Given the description of an element on the screen output the (x, y) to click on. 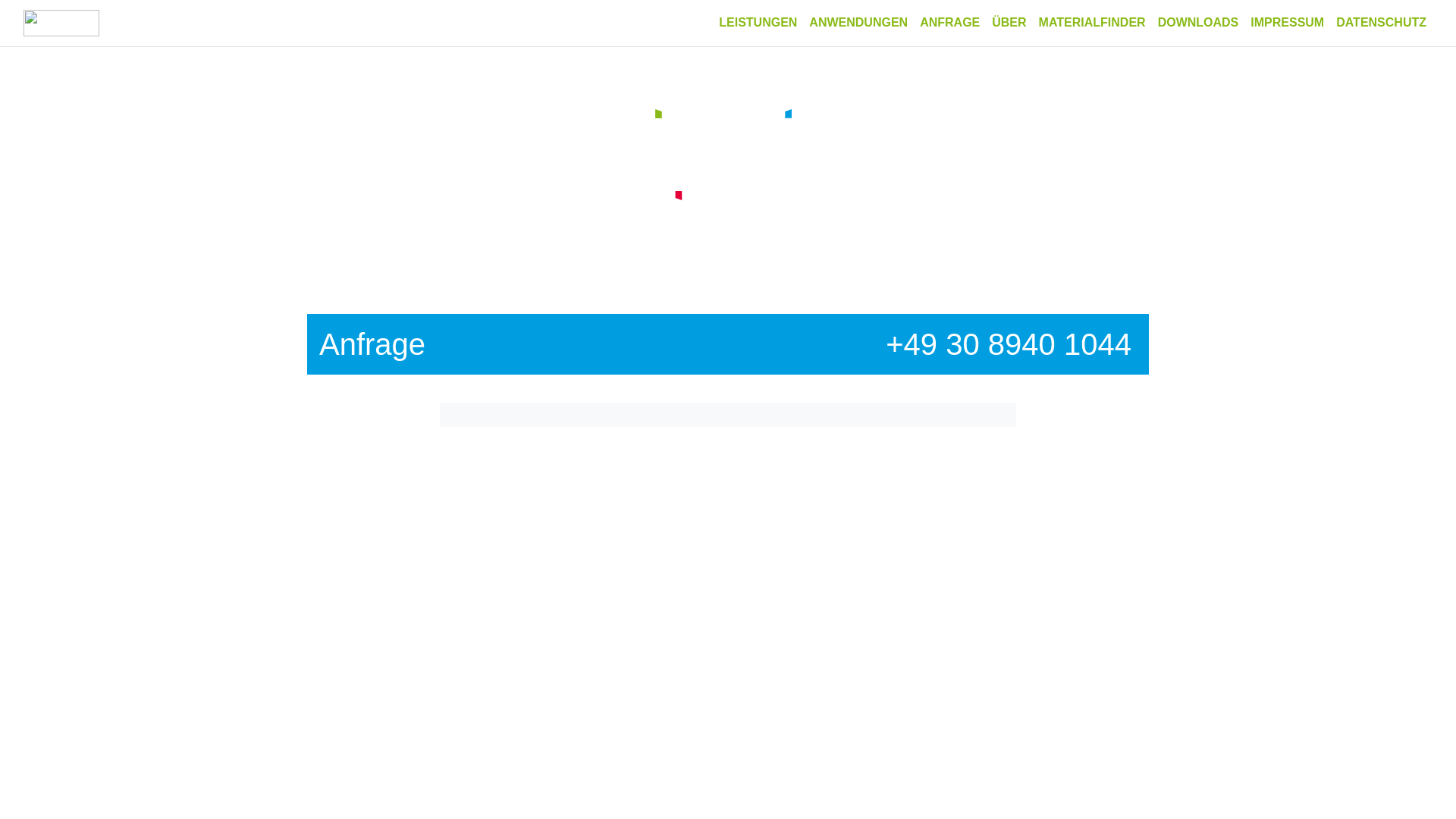
Home Element type: hover (61, 23)
IMPRESSUM Element type: text (1287, 23)
Logo 3Dpartzz GmbH Element type: hover (727, 156)
DATENSCHUTZ Element type: text (1381, 23)
ANFRAGE Element type: text (949, 23)
ANWENDUNGEN Element type: text (858, 23)
DOWNLOADS Element type: text (1198, 23)
LEISTUNGEN Element type: text (757, 23)
MATERIALFINDER Element type: text (1091, 23)
